Given the description of an element on the screen output the (x, y) to click on. 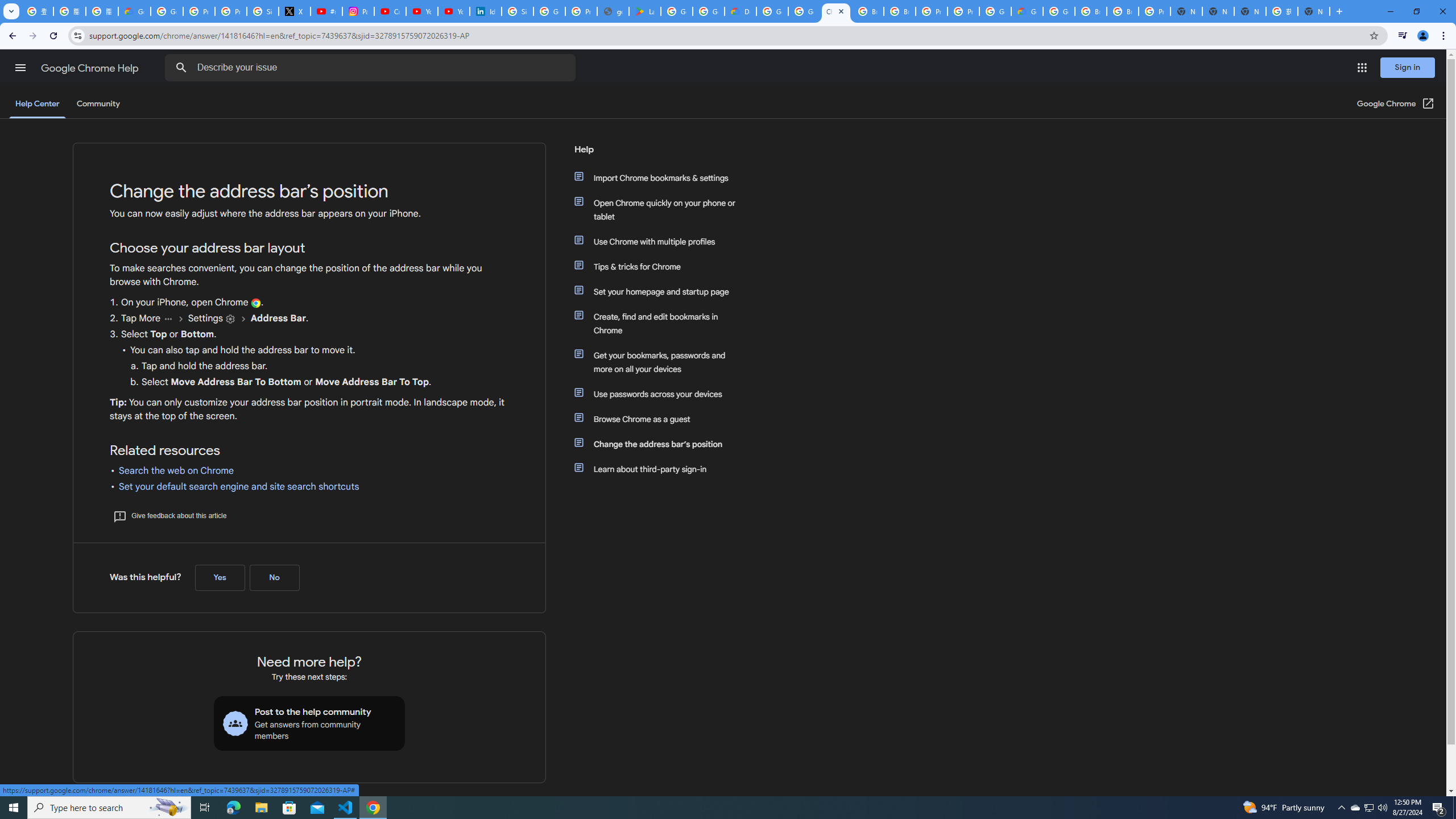
Search Help Center (181, 67)
More (168, 318)
Google Cloud Privacy Notice (134, 11)
Google Workspace - Specific Terms (708, 11)
Community (97, 103)
Open Chrome quickly on your phone or tablet (661, 209)
Sign in - Google Accounts (517, 11)
Yes (Was this helpful?) (219, 578)
